Given the description of an element on the screen output the (x, y) to click on. 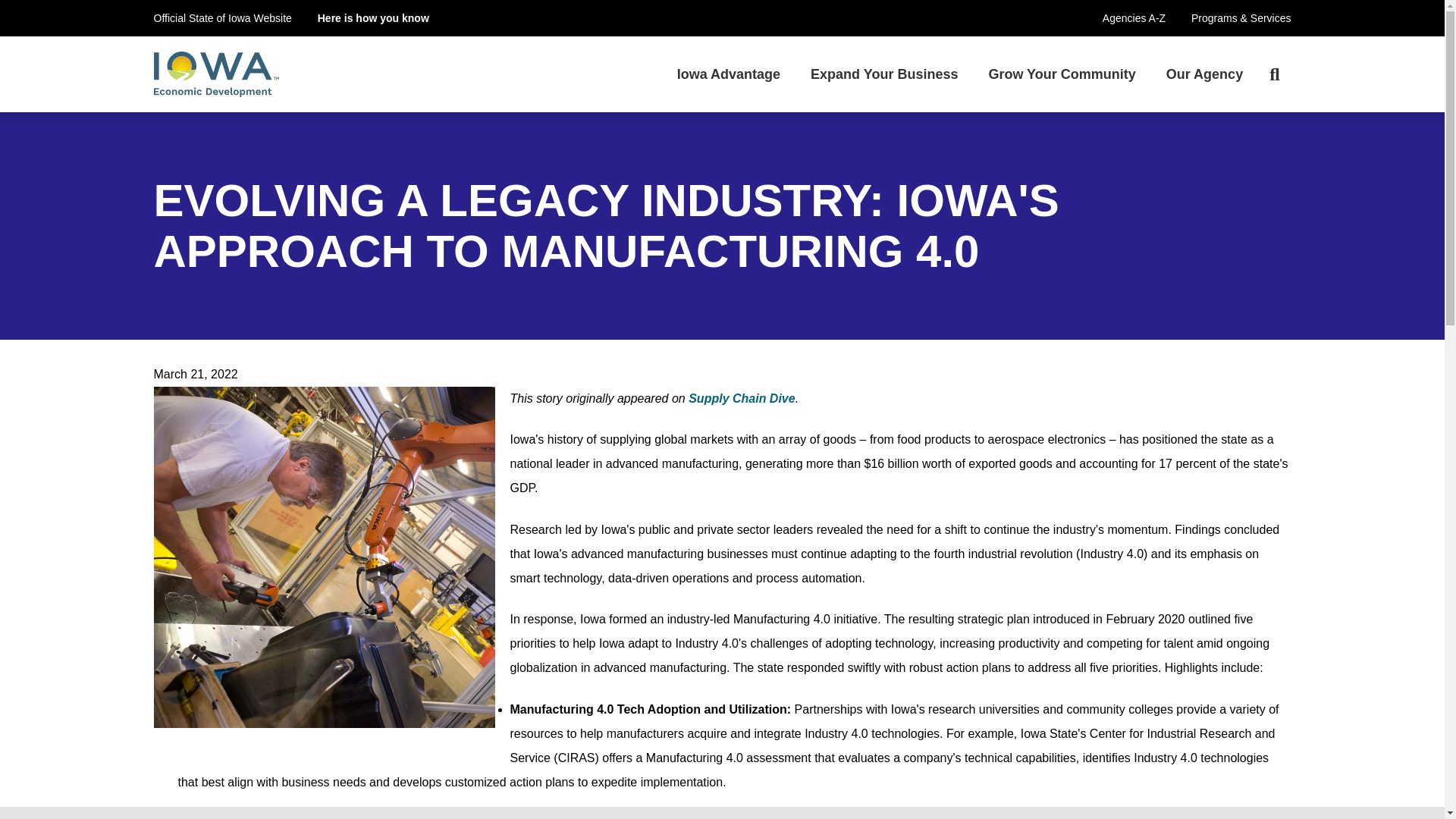
Grow Your Community (1061, 74)
Our Agency (1204, 74)
Expand Your Business (883, 74)
Supply Chain Dive (741, 398)
Here is how you know (373, 18)
Agencies A-Z (1134, 18)
Iowa Advantage (728, 74)
